Given the description of an element on the screen output the (x, y) to click on. 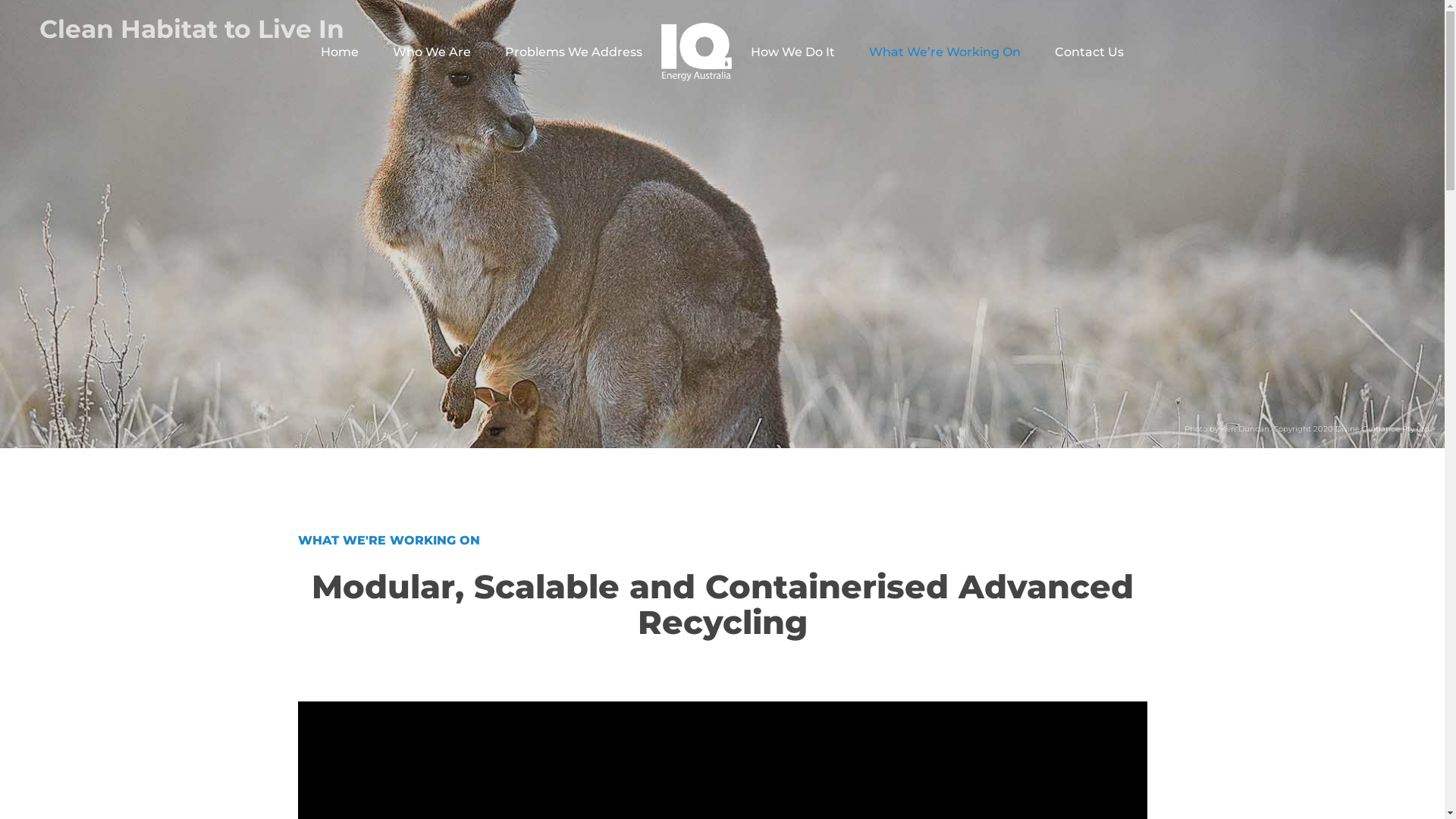
How We Do It Element type: text (792, 51)
Contact Us Element type: text (1089, 51)
Problems We Address Element type: text (573, 51)
Home Element type: text (339, 51)
Who We Are Element type: text (431, 51)
